Given the description of an element on the screen output the (x, y) to click on. 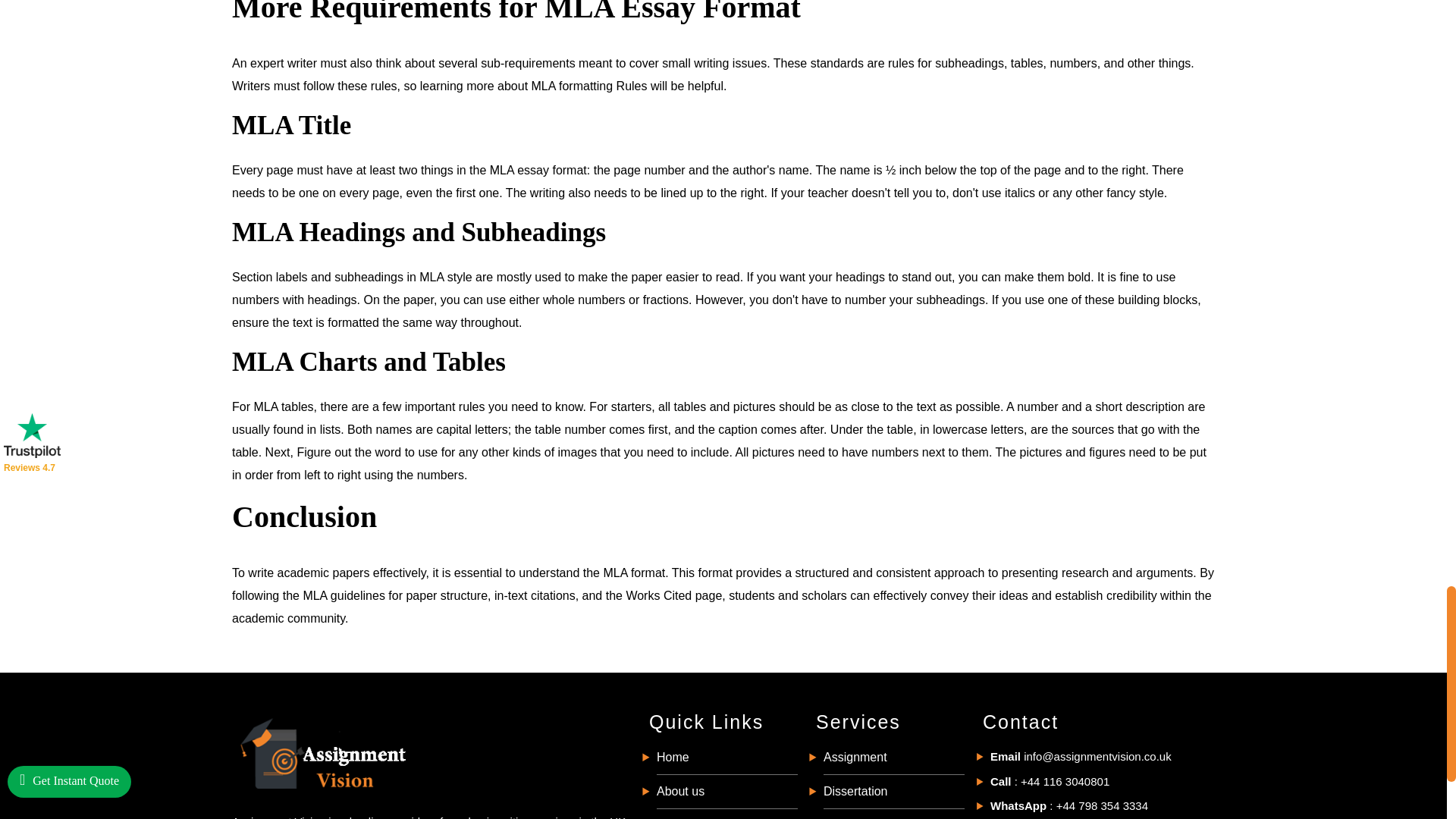
Dissertation (855, 790)
Assignment (855, 757)
About us (680, 790)
Home (672, 757)
